Given the description of an element on the screen output the (x, y) to click on. 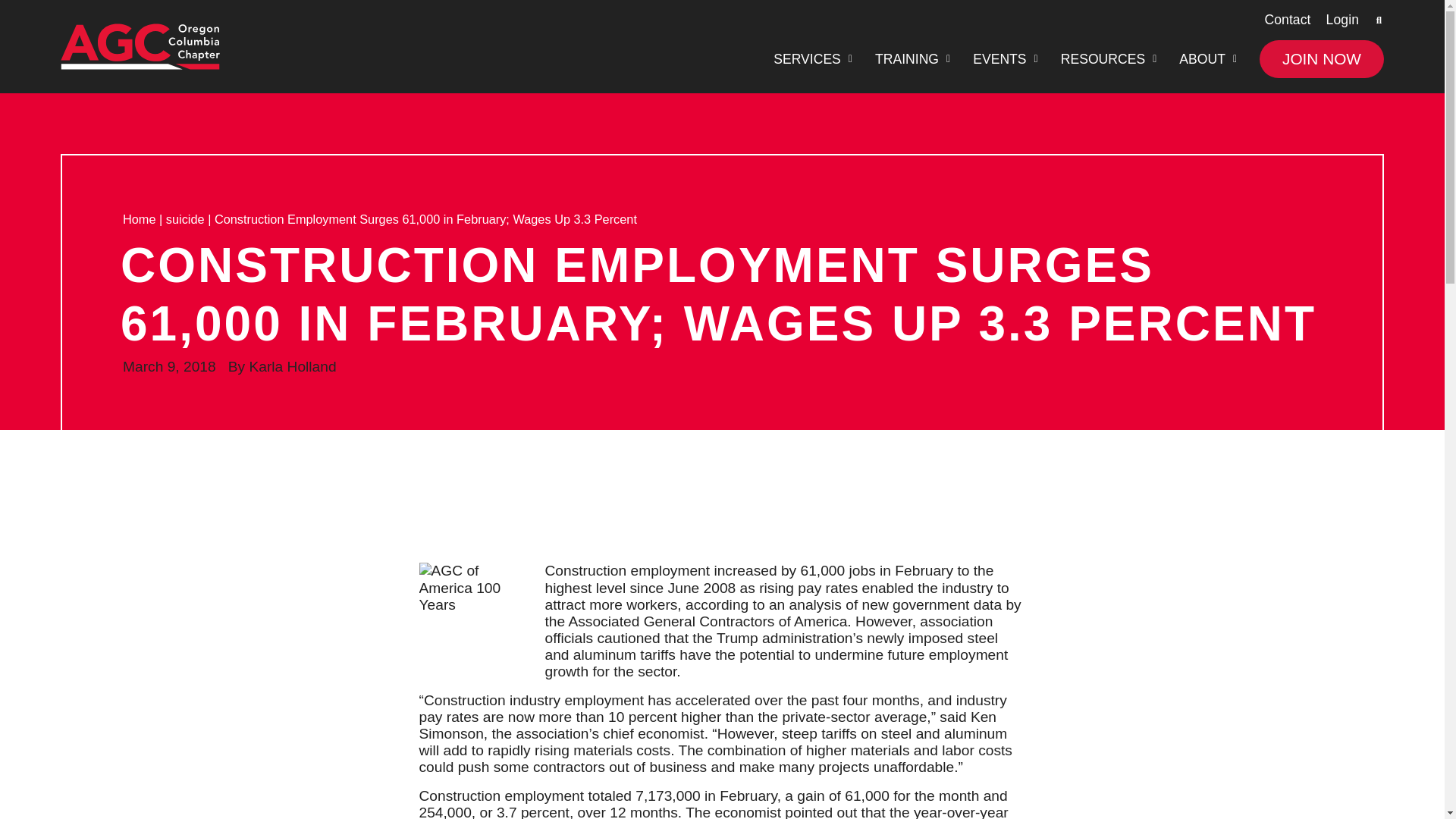
TRAINING (911, 59)
Contact (1286, 19)
Login (1342, 19)
SERVICES (812, 59)
